Given the description of an element on the screen output the (x, y) to click on. 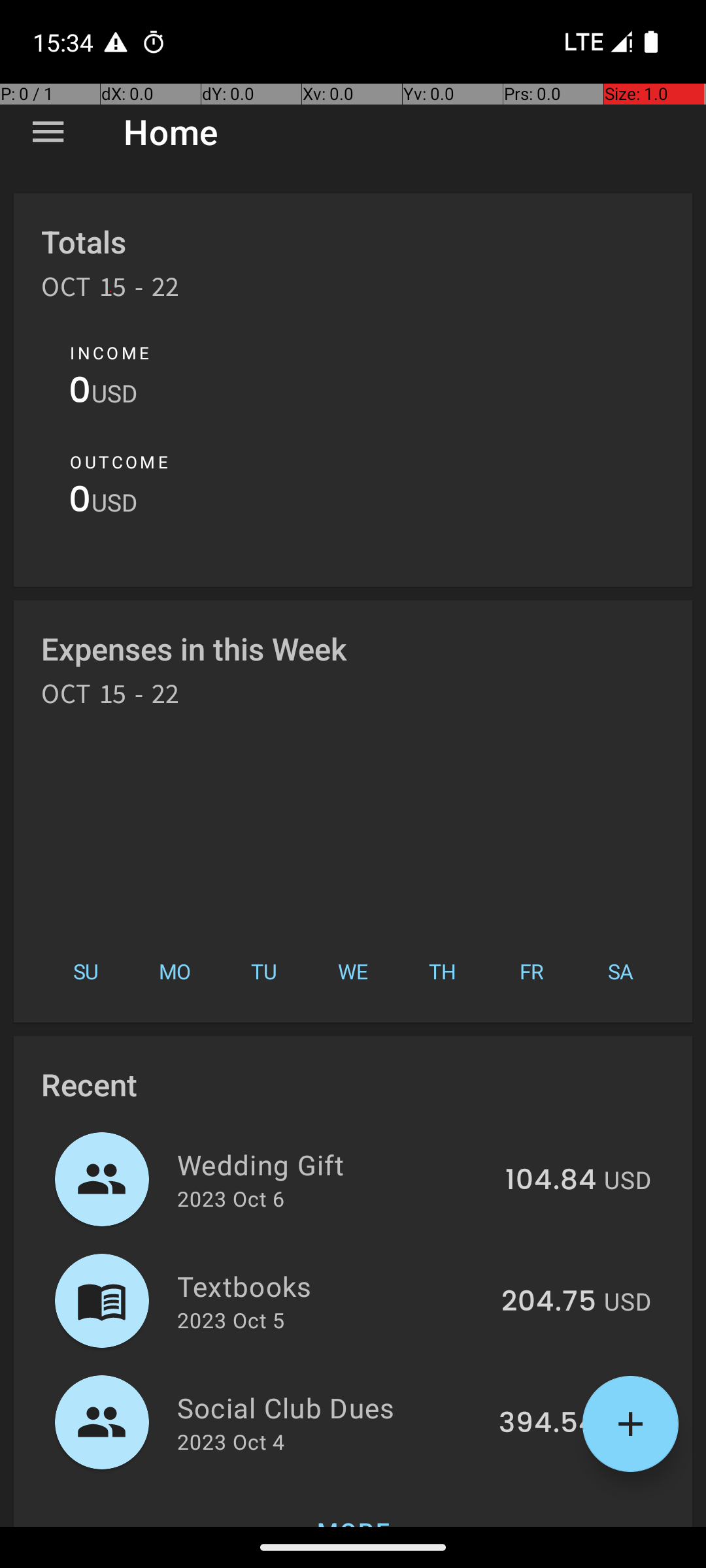
MORE Element type: android.widget.Button (352, 1504)
Wedding Gift Element type: android.widget.TextView (333, 1164)
2023 Oct 6 Element type: android.widget.TextView (230, 1198)
104.84 Element type: android.widget.TextView (550, 1180)
Textbooks Element type: android.widget.TextView (331, 1285)
2023 Oct 5 Element type: android.widget.TextView (230, 1320)
204.75 Element type: android.widget.TextView (548, 1301)
Social Club Dues Element type: android.widget.TextView (330, 1407)
2023 Oct 4 Element type: android.widget.TextView (230, 1441)
394.54 Element type: android.widget.TextView (547, 1423)
